Given the description of an element on the screen output the (x, y) to click on. 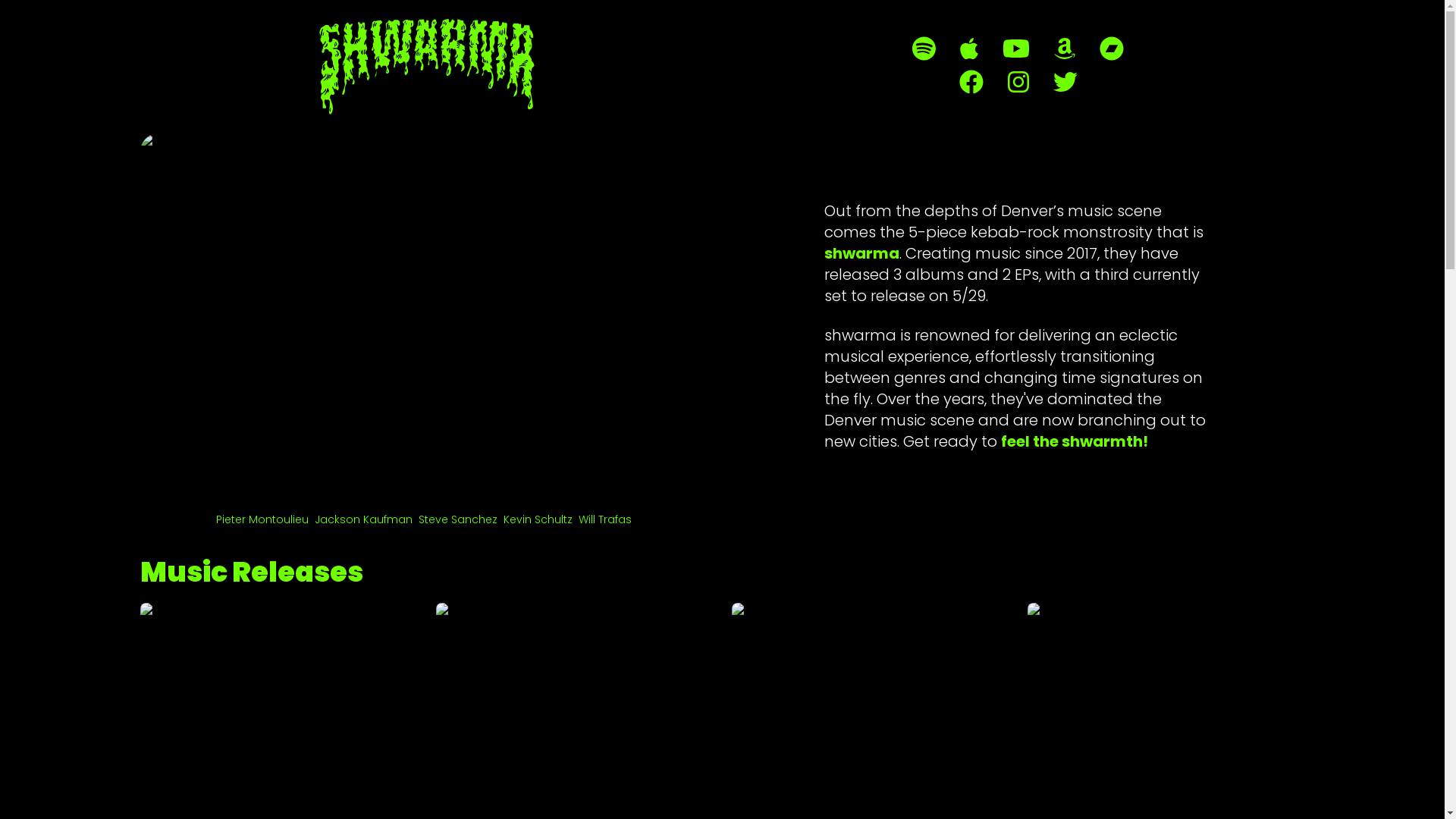
Amazon Music Element type: hover (1064, 48)
Bandcamp Element type: hover (1111, 48)
Youtube Music Element type: hover (1015, 48)
Twitter Element type: hover (1064, 81)
Facebook Element type: hover (970, 81)
Apple Music Element type: hover (969, 48)
Spotify Element type: hover (923, 48)
Instagram Element type: hover (1017, 81)
